Given the description of an element on the screen output the (x, y) to click on. 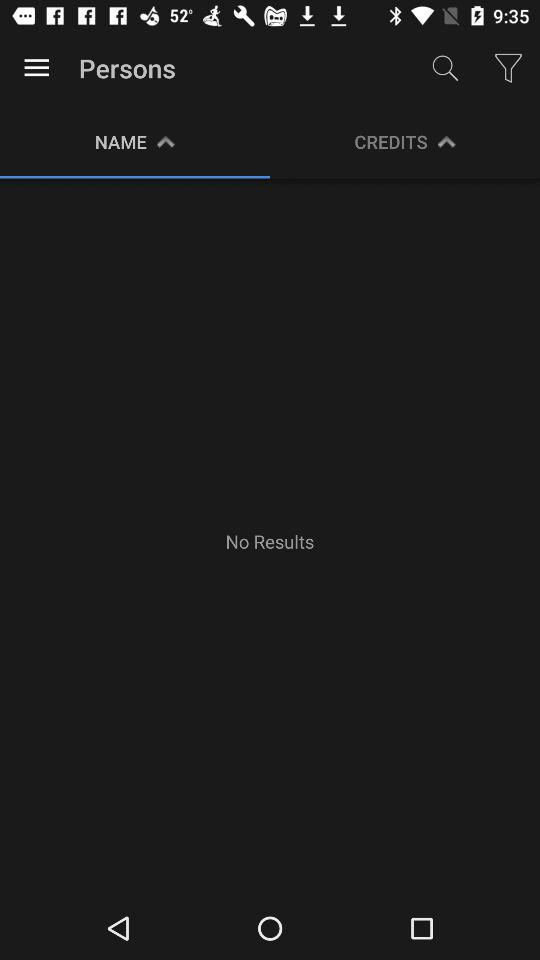
launch the icon next to the persons app (444, 67)
